Given the description of an element on the screen output the (x, y) to click on. 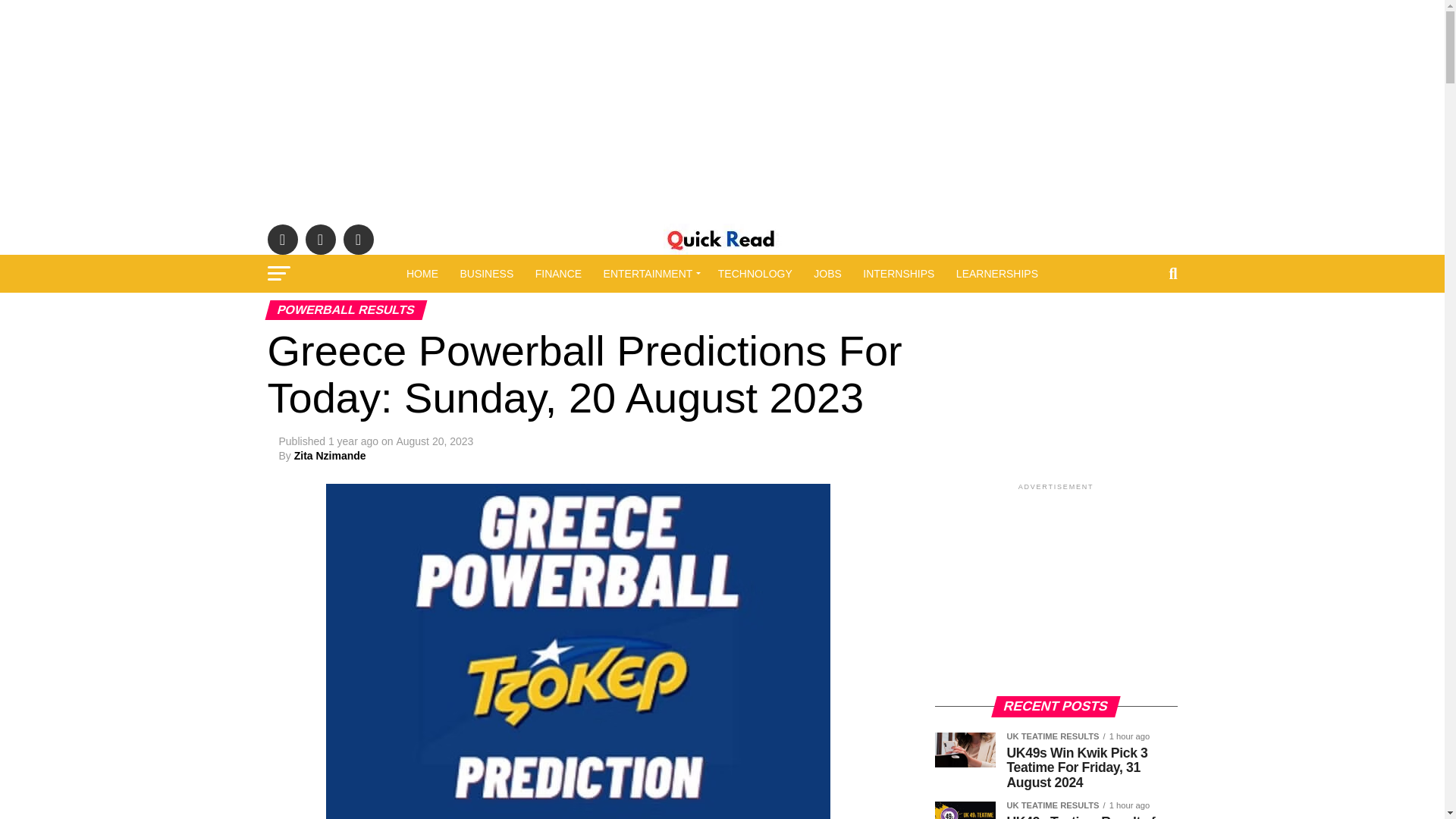
Posts by Zita Nzimande (330, 455)
HOME (421, 273)
FINANCE (558, 273)
BUSINESS (485, 273)
